Given the description of an element on the screen output the (x, y) to click on. 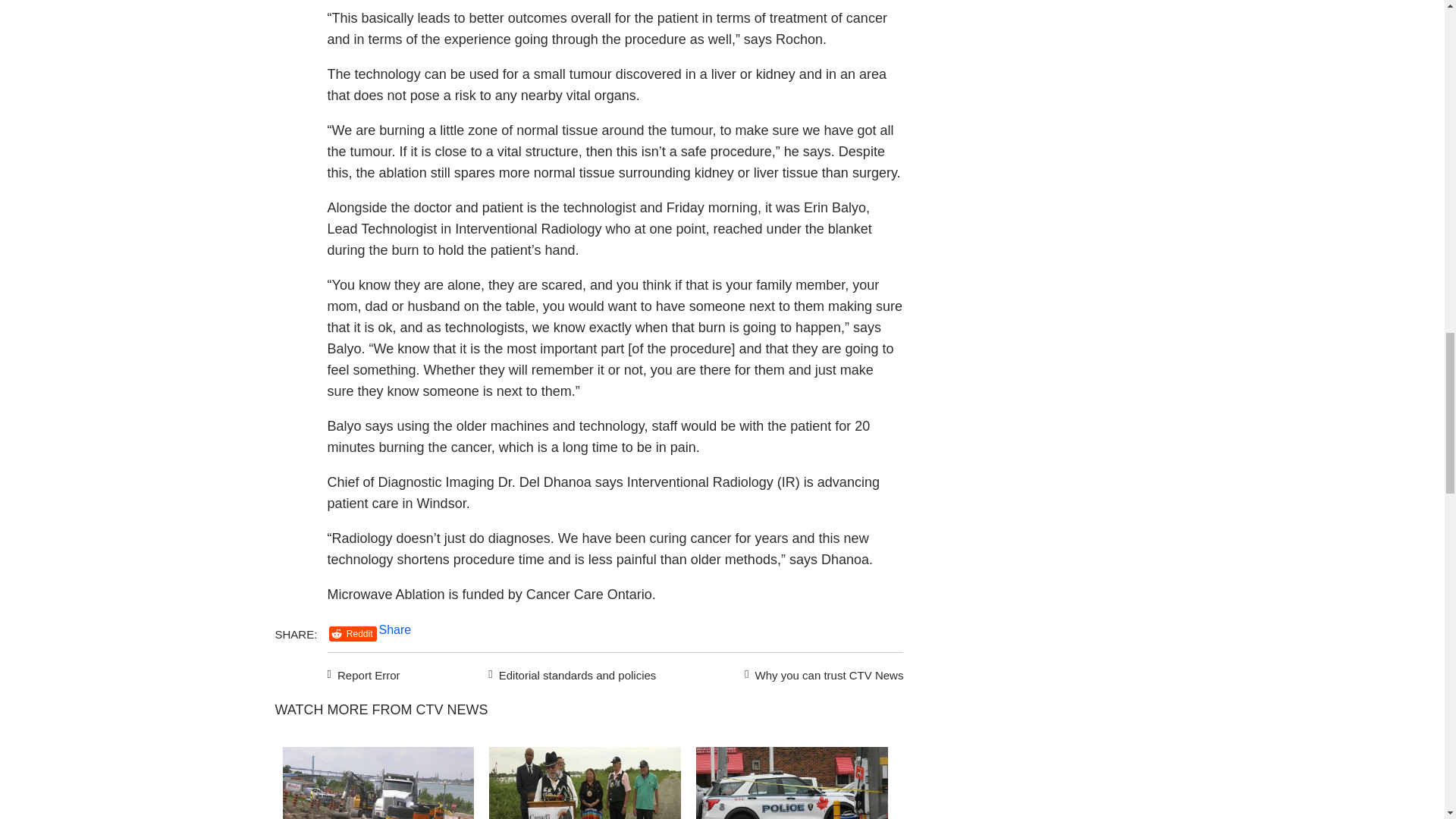
false (378, 782)
Share (395, 629)
Streetcar steps away from homeless encampment (378, 782)
Report Error (363, 672)
false (585, 782)
Reddit (353, 634)
Officer injured following 'violent interaction' (791, 782)
Why you can trust CTV News (820, 672)
Editorial standards and policies (569, 672)
Funding for flooding granted to Caldwell First Nat (585, 782)
